Given the description of an element on the screen output the (x, y) to click on. 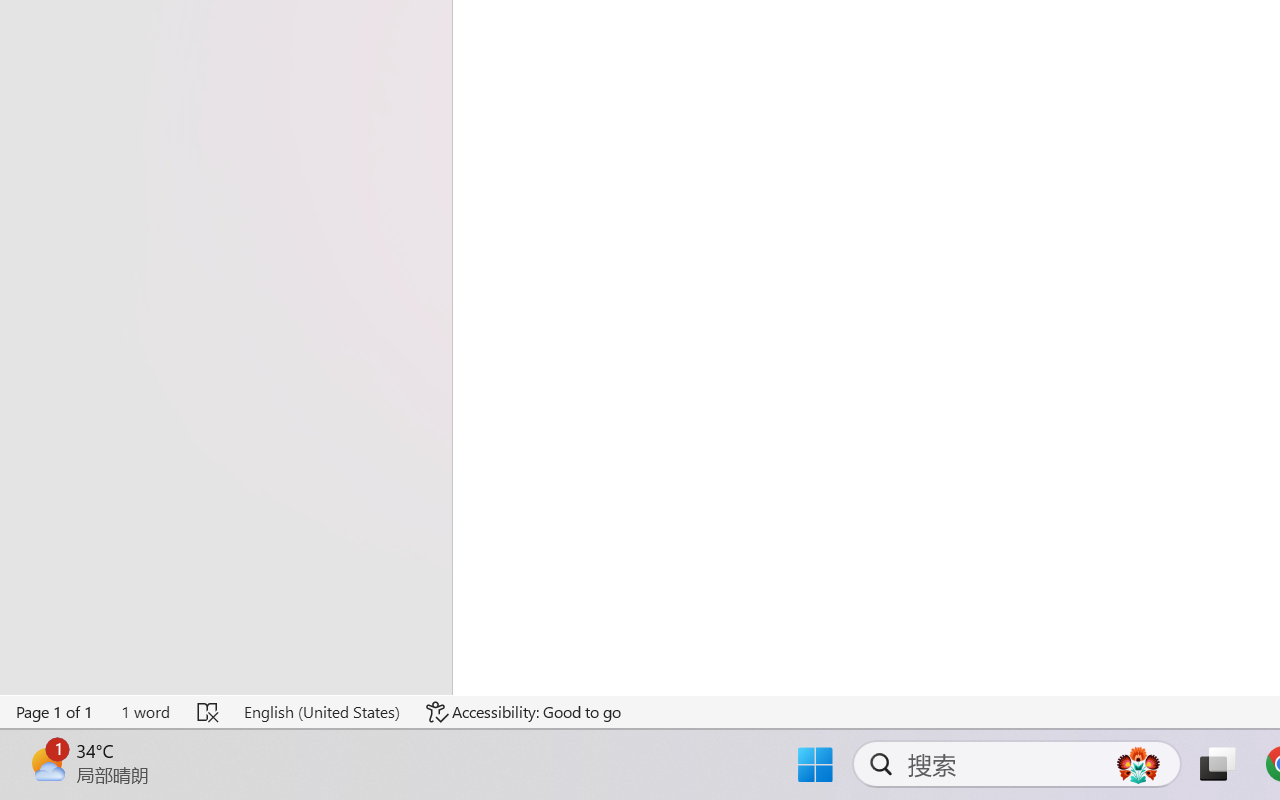
Spelling and Grammar Check Errors (208, 712)
